Given the description of an element on the screen output the (x, y) to click on. 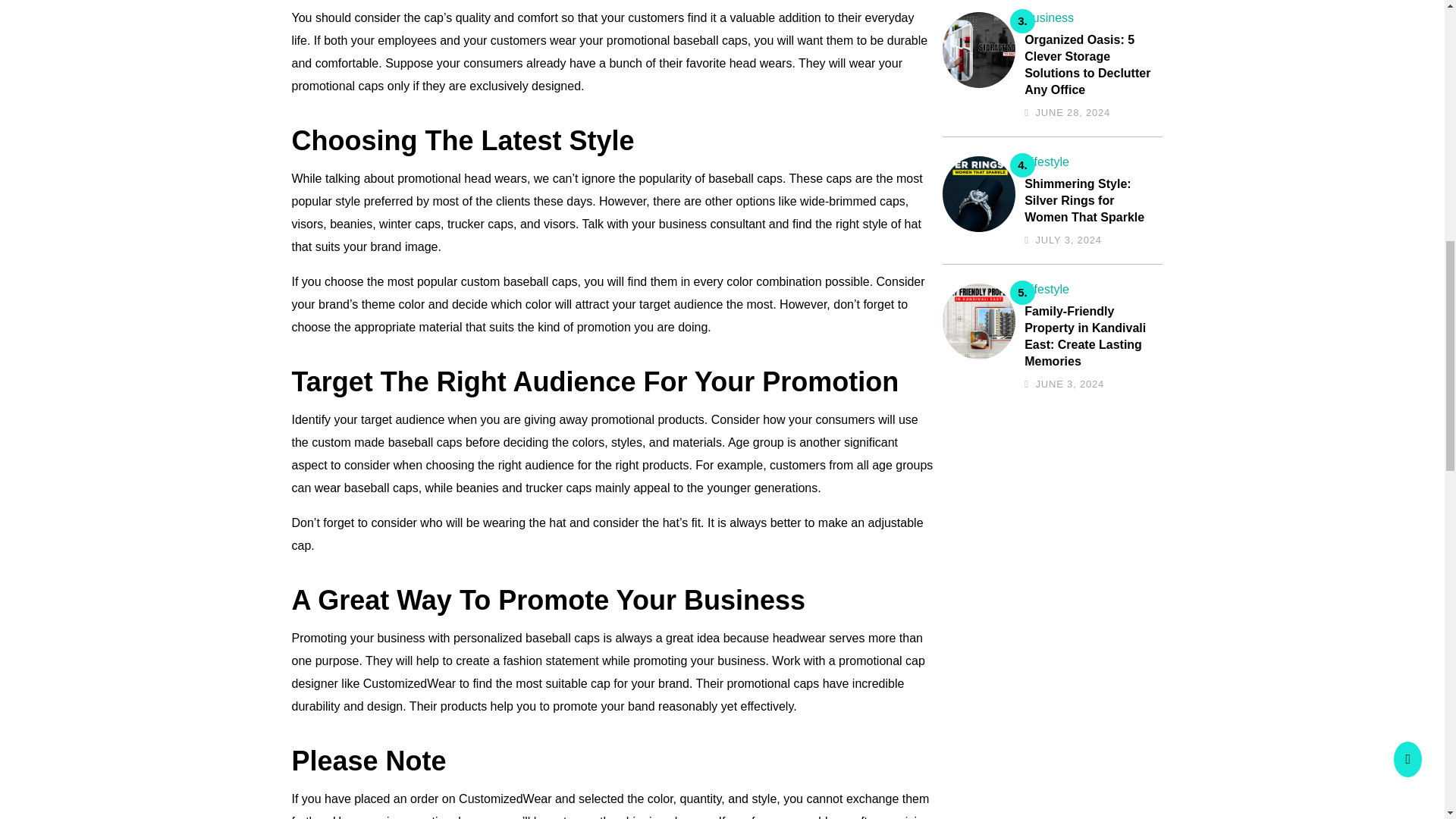
Shimmering Style: Silver Rings for Women That Sparkle (1089, 201)
Lifestyle (1046, 161)
Business (1049, 17)
Lifestyle (1046, 288)
